Given the description of an element on the screen output the (x, y) to click on. 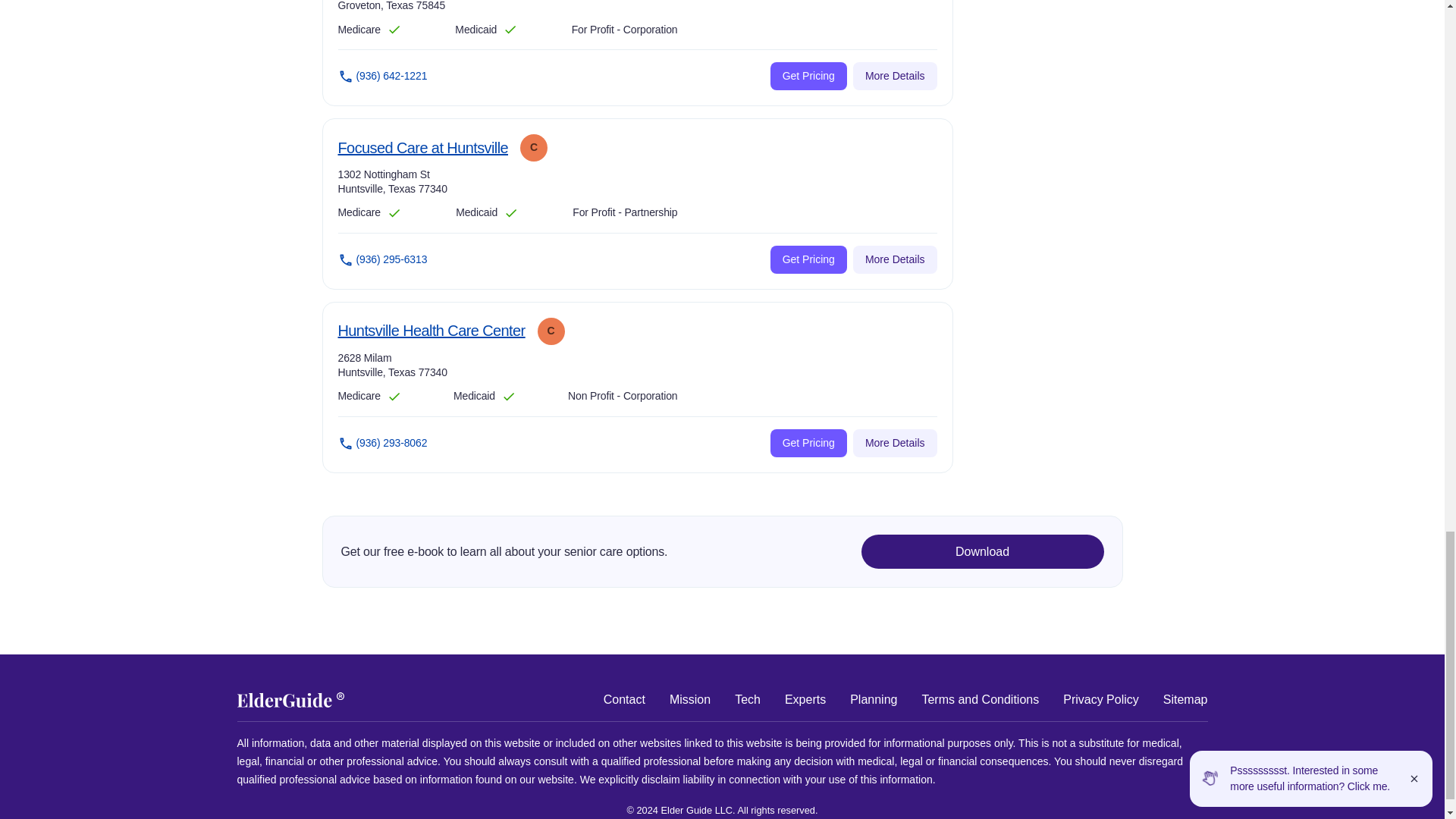
Get Pricing (422, 148)
Get Pricing (808, 443)
More Details (808, 259)
More Details (895, 259)
Get Pricing (431, 331)
More Details (895, 76)
